Given the description of an element on the screen output the (x, y) to click on. 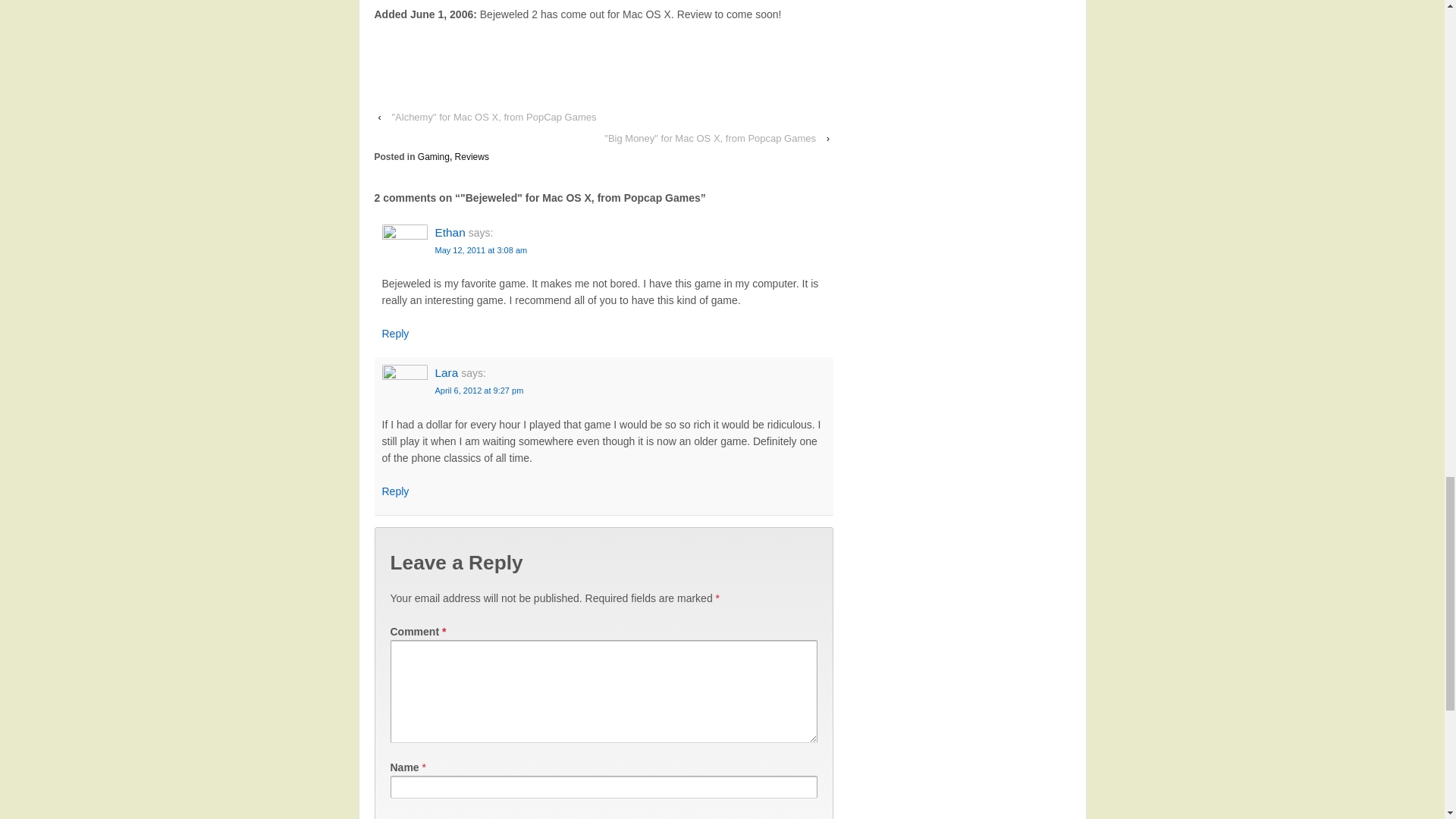
Gaming (433, 156)
Ethan (450, 232)
Lara (446, 372)
Reply (395, 491)
"Alchemy" for Mac OS X, from PopCap Games (494, 117)
April 6, 2012 at 9:27 pm (479, 389)
May 12, 2011 at 3:08 am (481, 249)
Reply (395, 333)
"Big Money" for Mac OS X, from Popcap Games (710, 138)
Reviews (471, 156)
